Given the description of an element on the screen output the (x, y) to click on. 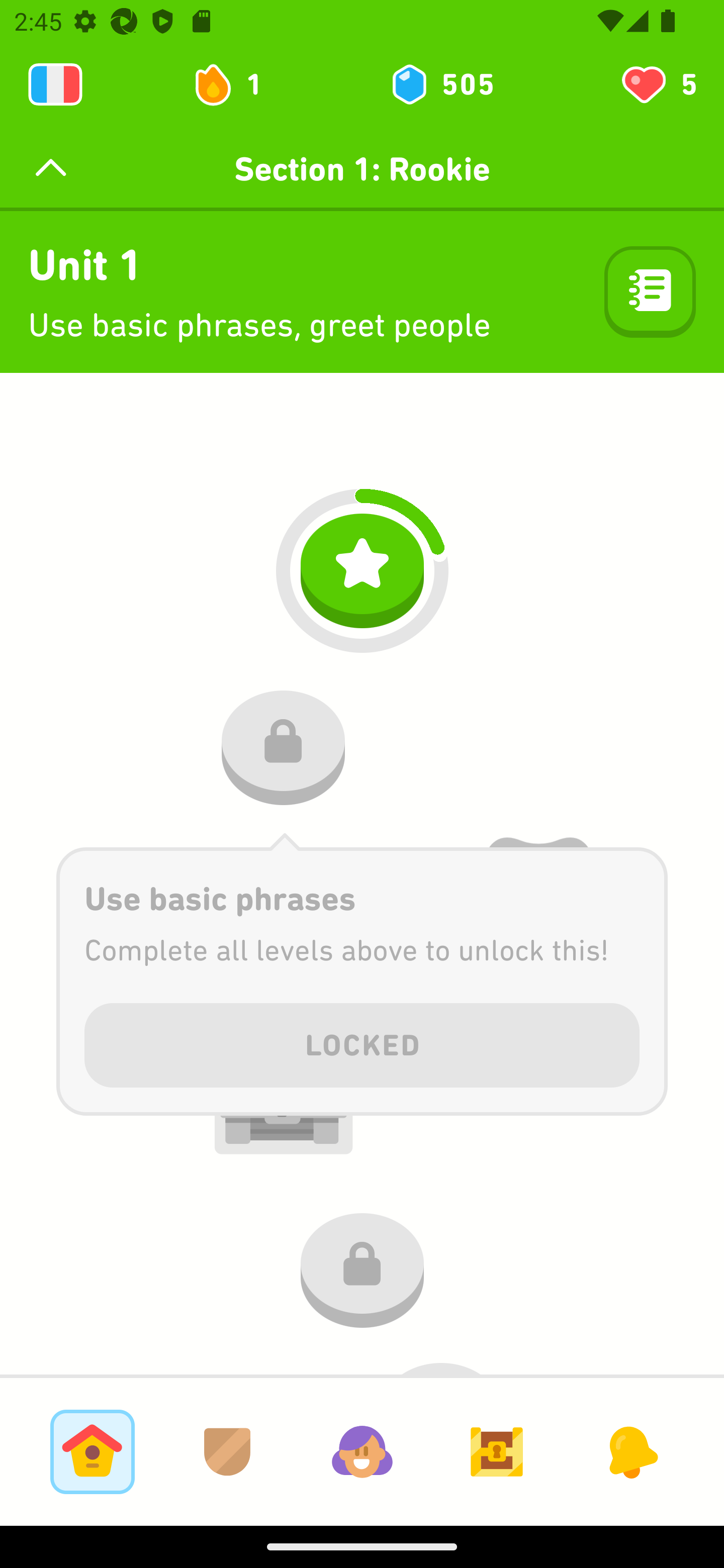
Learning 2131888976 (55, 84)
1 day streak 1 (236, 84)
505 (441, 84)
You have 5 hearts left 5 (657, 84)
Section 1: Rookie (362, 169)
LOCKED (361, 1041)
Learn Tab (91, 1451)
Leagues Tab (227, 1451)
Profile Tab (361, 1451)
Goals Tab (496, 1451)
News Tab (631, 1451)
